Given the description of an element on the screen output the (x, y) to click on. 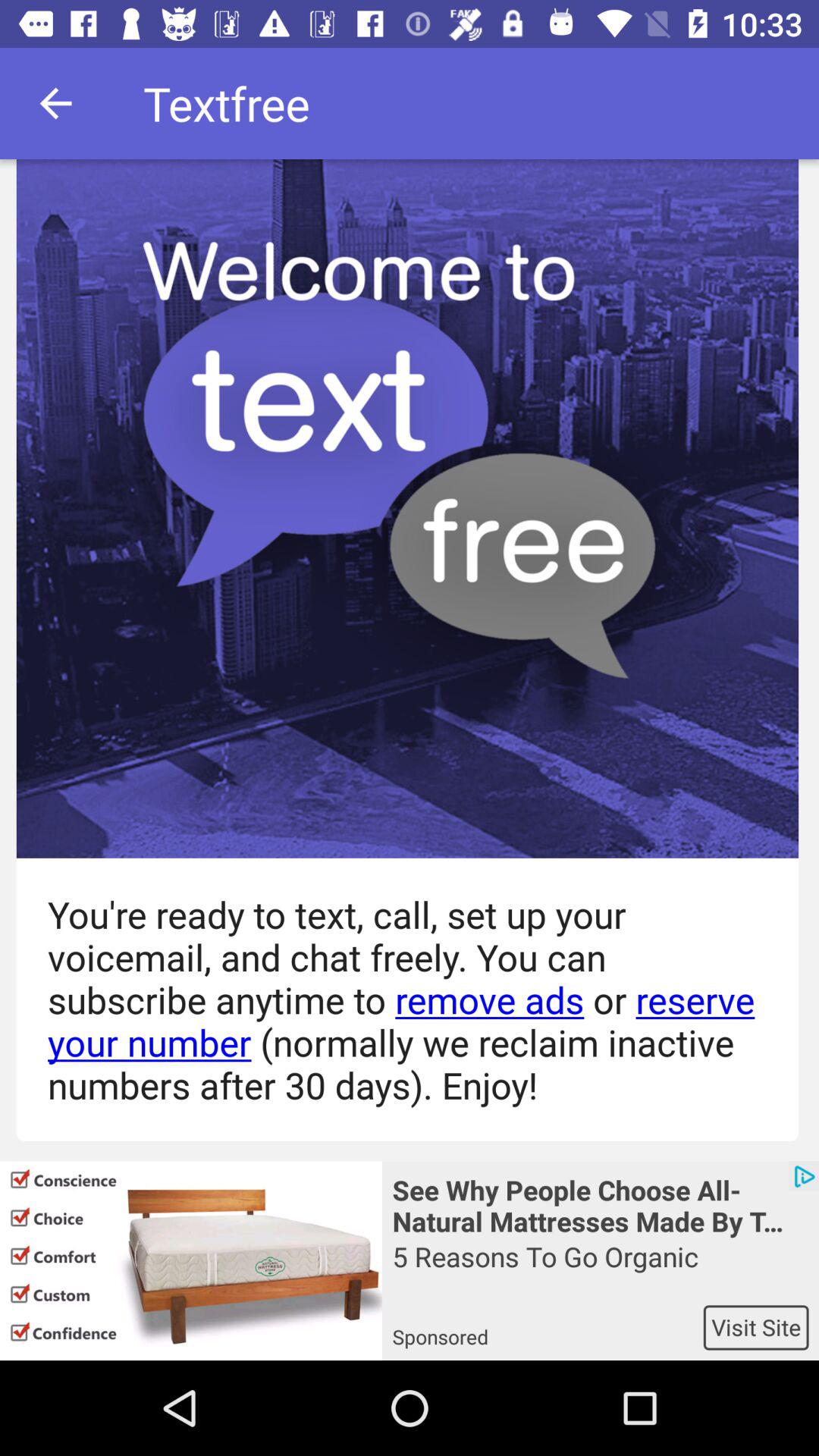
swipe until you re ready (399, 999)
